Given the description of an element on the screen output the (x, y) to click on. 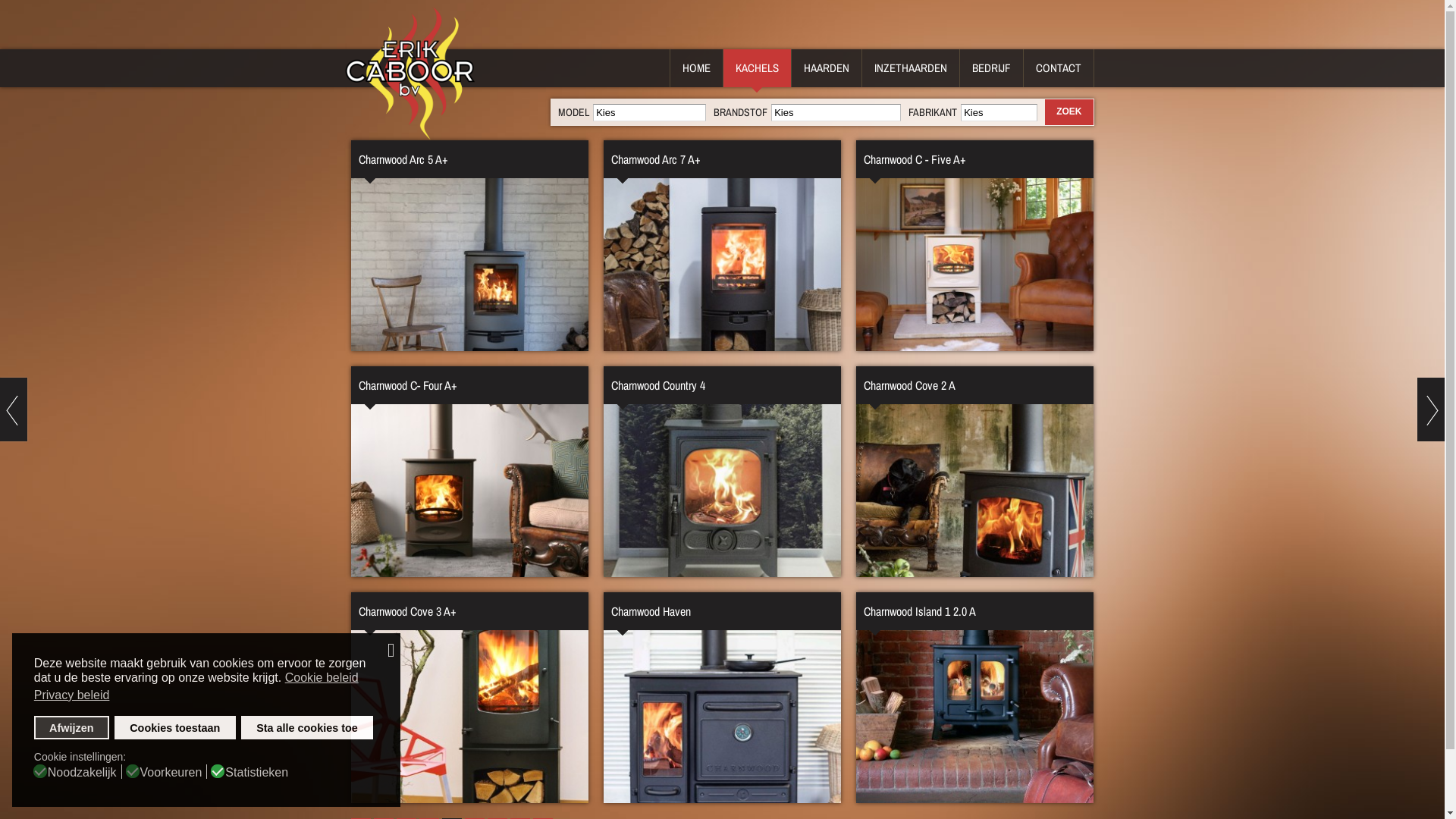
Noodzakelijk Element type: text (84, 771)
Afwijzen Element type: text (71, 727)
INZETHAARDEN Element type: text (909, 68)
Sta alle cookies toe Element type: text (307, 727)
HOME Element type: text (696, 68)
>  Element type: text (1430, 409)
Show Details Element type: text (721, 245)
Statistieken Element type: text (258, 771)
ZOEK Element type: text (1068, 112)
Show Details Element type: text (468, 471)
< Element type: text (13, 409)
Show Details Element type: text (974, 471)
Voorkeuren Element type: text (173, 771)
BEDRIJF Element type: text (991, 68)
Show Details Element type: text (974, 697)
KACHELS Element type: text (756, 68)
Privacy beleid Element type: text (73, 694)
HAARDEN Element type: text (826, 68)
Show Details Element type: text (721, 697)
Cookie beleid Element type: text (322, 677)
Show Details Element type: text (468, 245)
Cookies toestaan Element type: text (174, 727)
Show Details Element type: text (721, 471)
Show Details Element type: text (974, 245)
CONTACT Element type: text (1058, 68)
Show Details Element type: text (468, 697)
